Given the description of an element on the screen output the (x, y) to click on. 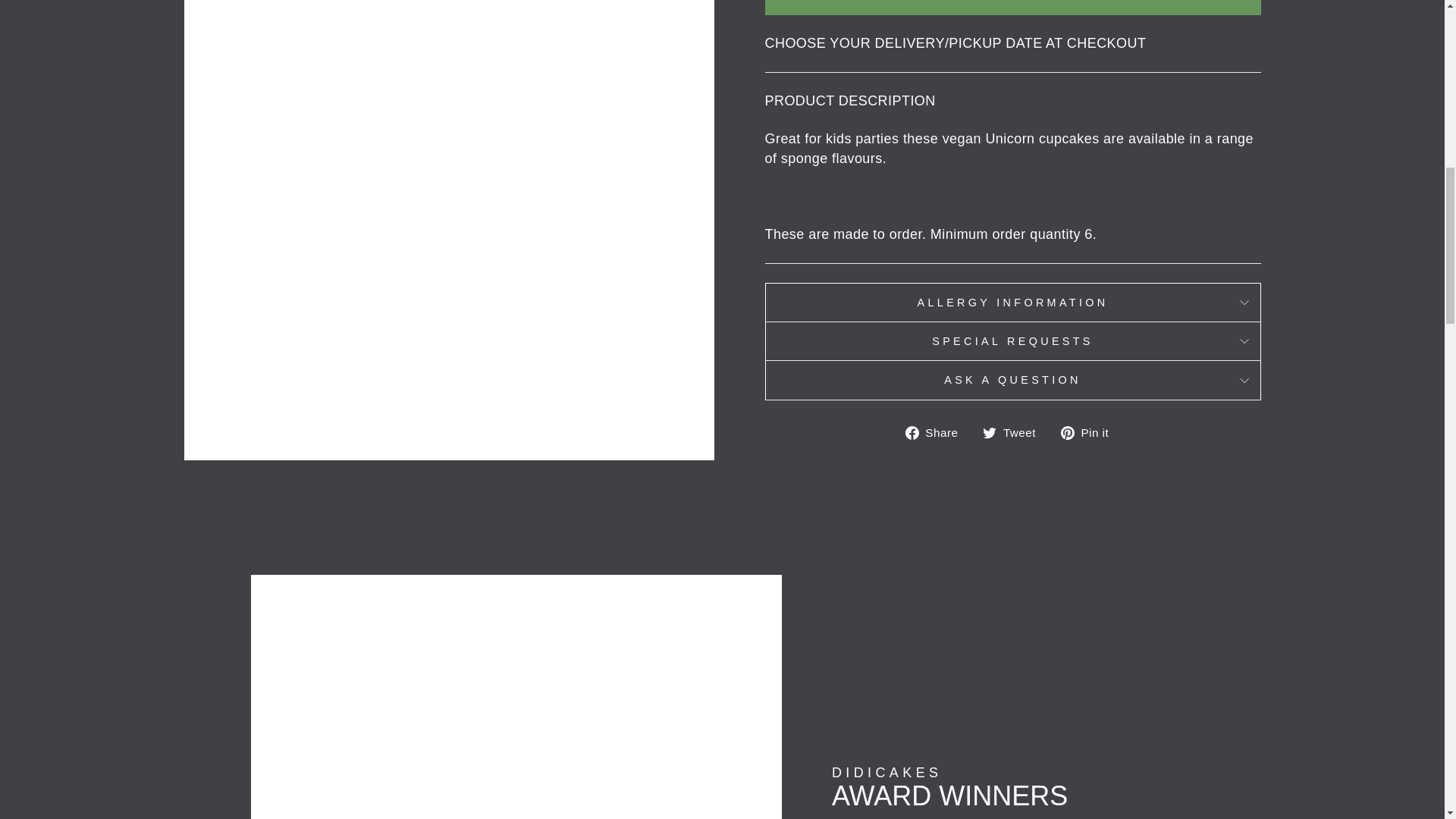
Pin on Pinterest (1090, 432)
Tweet on Twitter (1014, 432)
Share on Facebook (937, 432)
